Given the description of an element on the screen output the (x, y) to click on. 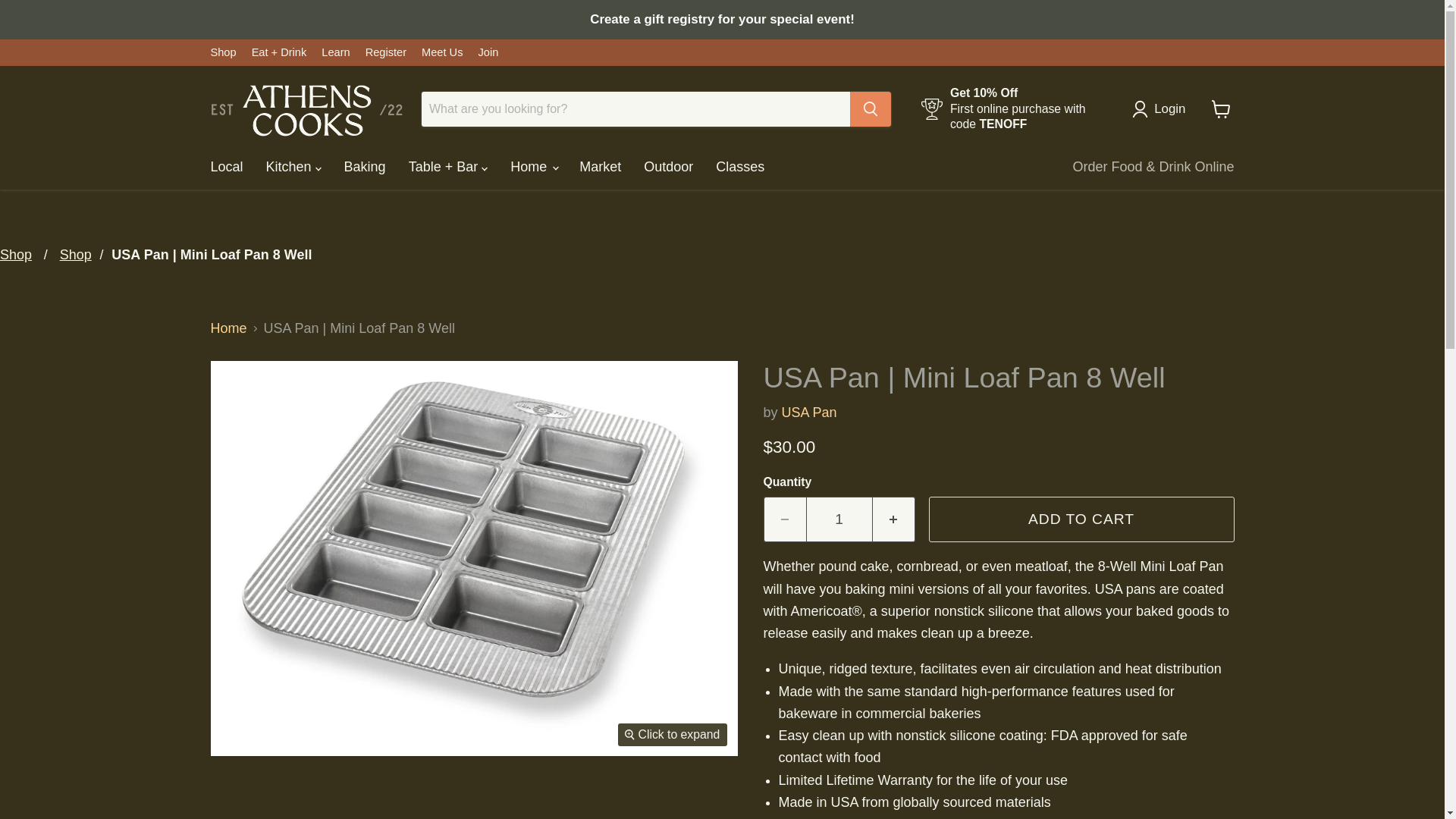
Login (1162, 108)
Join (487, 51)
Meet Us (442, 51)
Learn (335, 51)
Shop (223, 51)
1 (838, 519)
USA Pan (809, 412)
Register (385, 51)
Shop (16, 254)
Shop (75, 254)
